Given the description of an element on the screen output the (x, y) to click on. 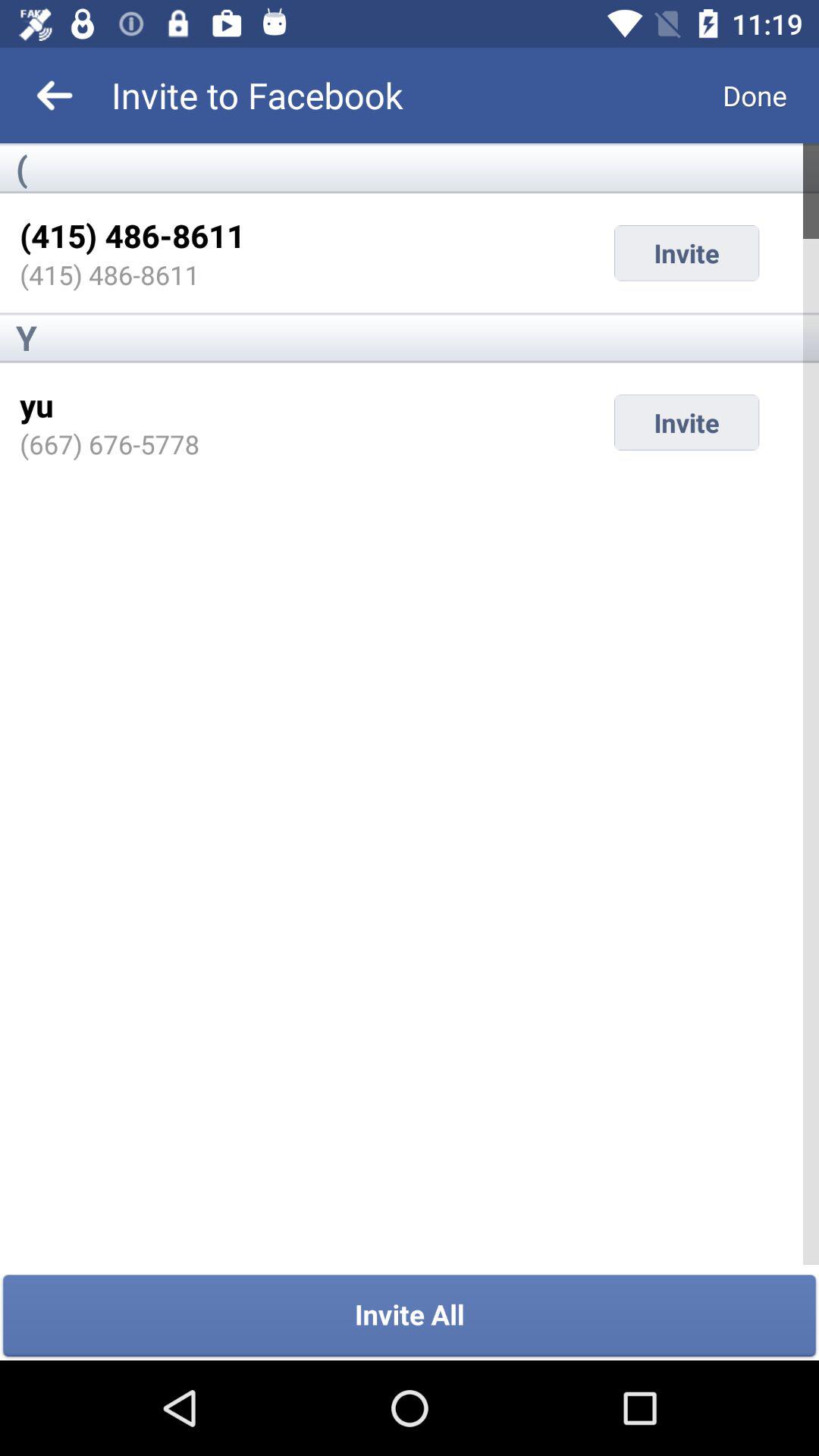
turn off the item to the left of invite to facebook item (55, 95)
